Given the description of an element on the screen output the (x, y) to click on. 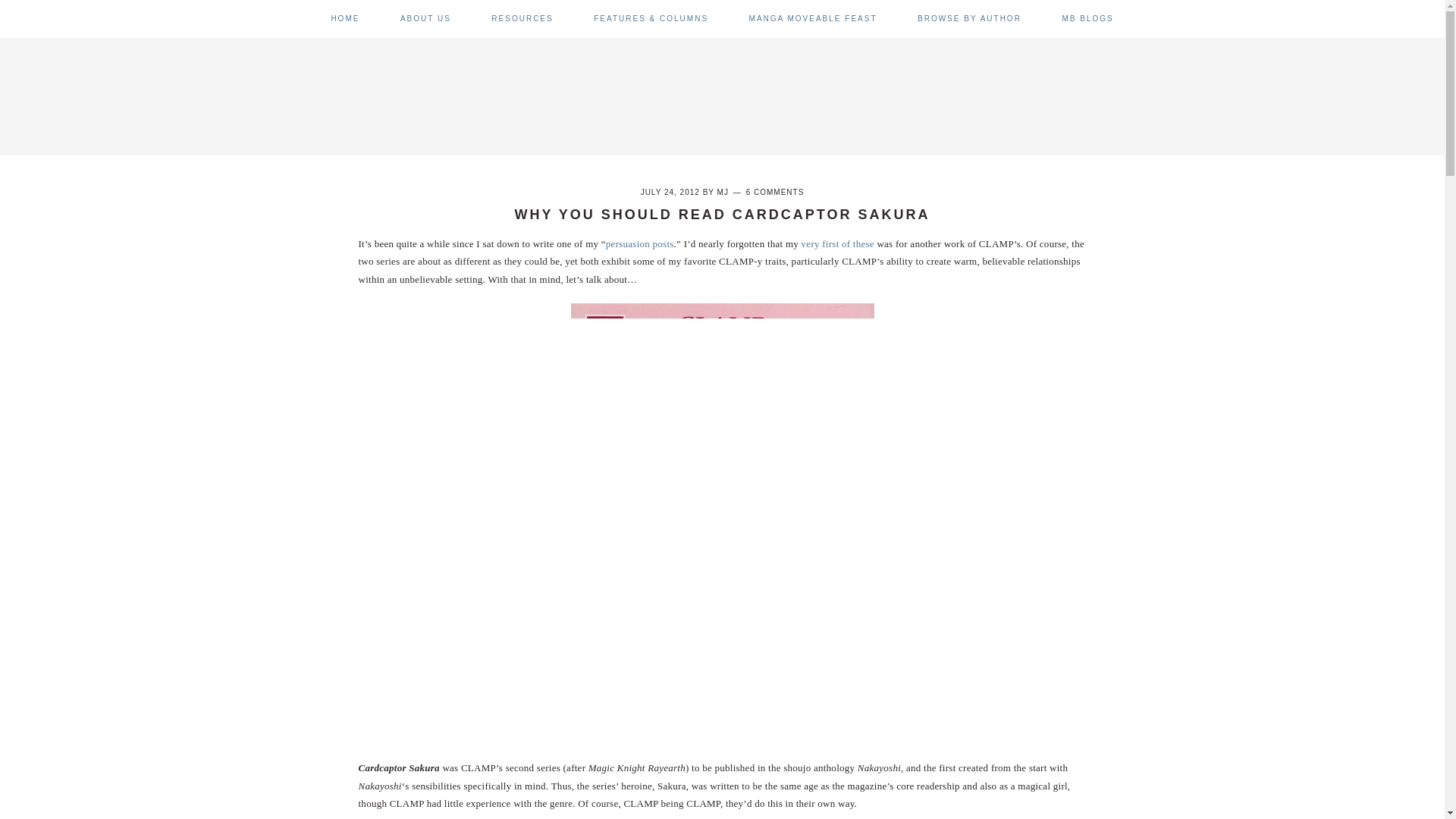
RESOURCES (521, 18)
Posts by MJ (723, 192)
ABOUT US (425, 18)
HOME (344, 18)
MANGA MOVEABLE FEAST (813, 18)
